Given the description of an element on the screen output the (x, y) to click on. 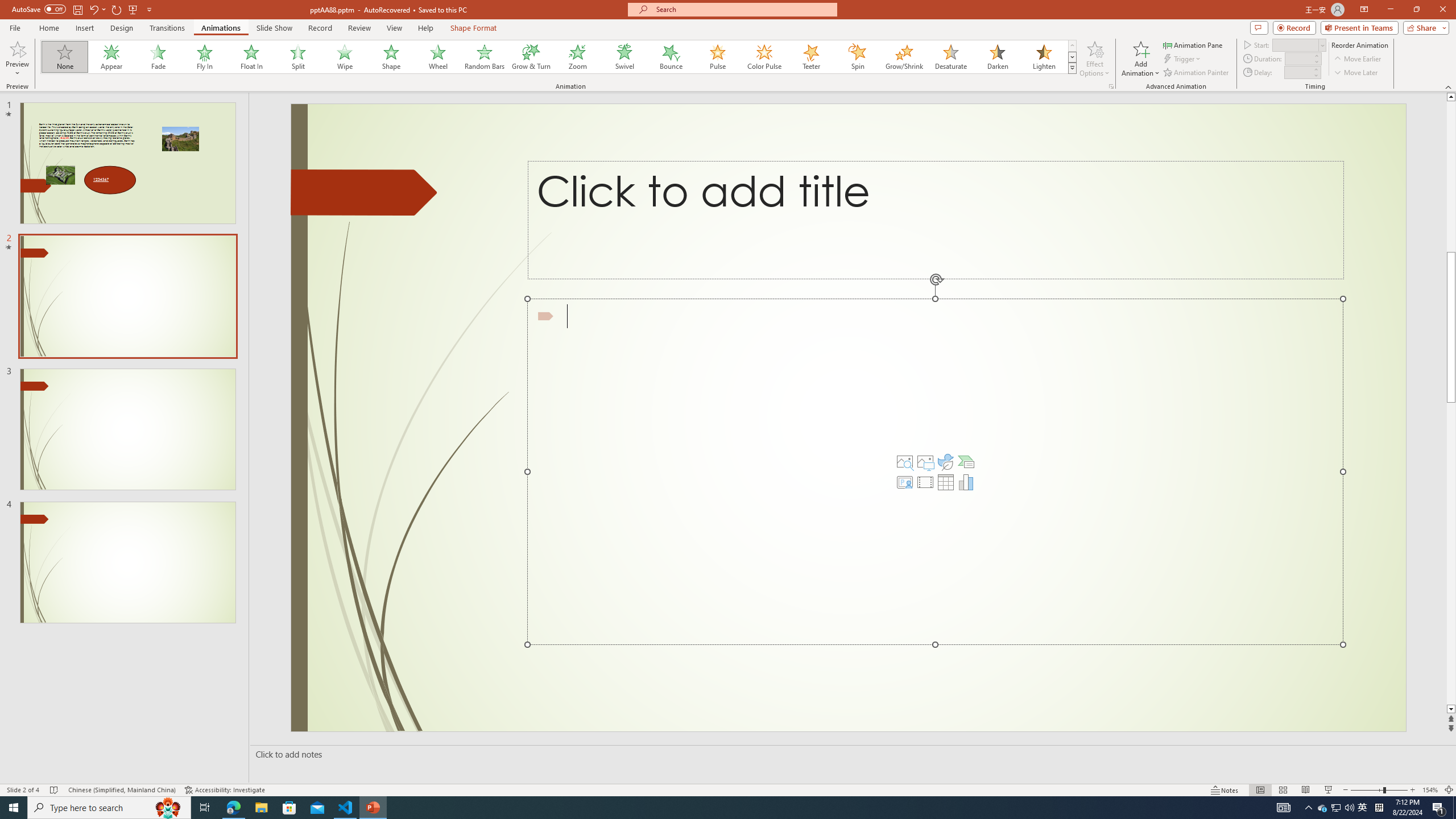
More Options... (1110, 85)
Animation Duration (1298, 58)
Bounce (670, 56)
Add Animation (1141, 58)
